Given the description of an element on the screen output the (x, y) to click on. 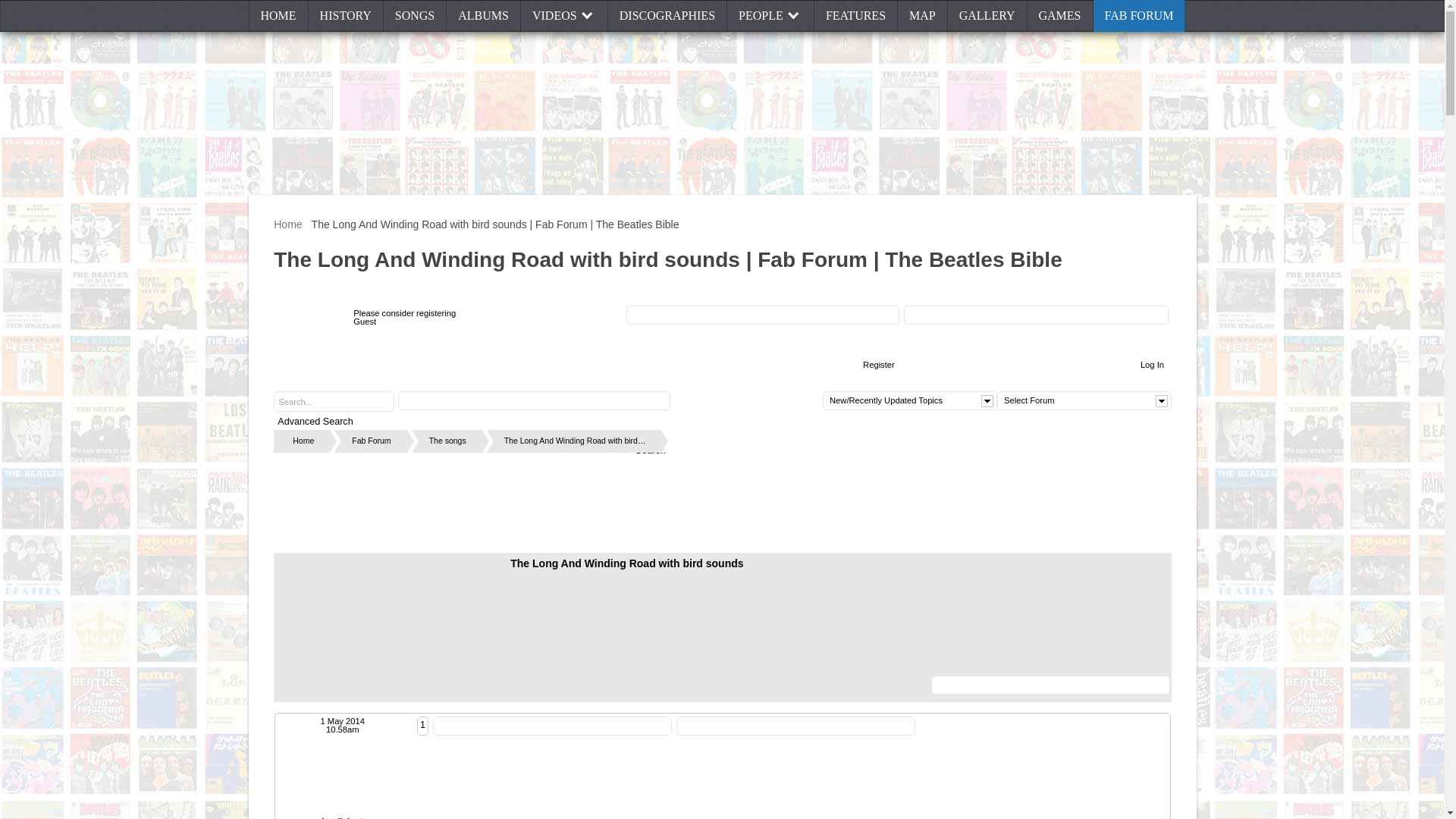
FEATURES (855, 15)
Beatle people (769, 15)
MAP (922, 15)
DISCOGRAPHIES (667, 15)
SONGS (415, 15)
GALLERY (987, 15)
PEOPLE (769, 15)
HISTORY (346, 15)
Beatles videos (564, 15)
Beatles discographies (667, 15)
VIDEOS (564, 15)
HOME (278, 15)
Home (278, 15)
ALBUMS (483, 15)
History (346, 15)
